Given the description of an element on the screen output the (x, y) to click on. 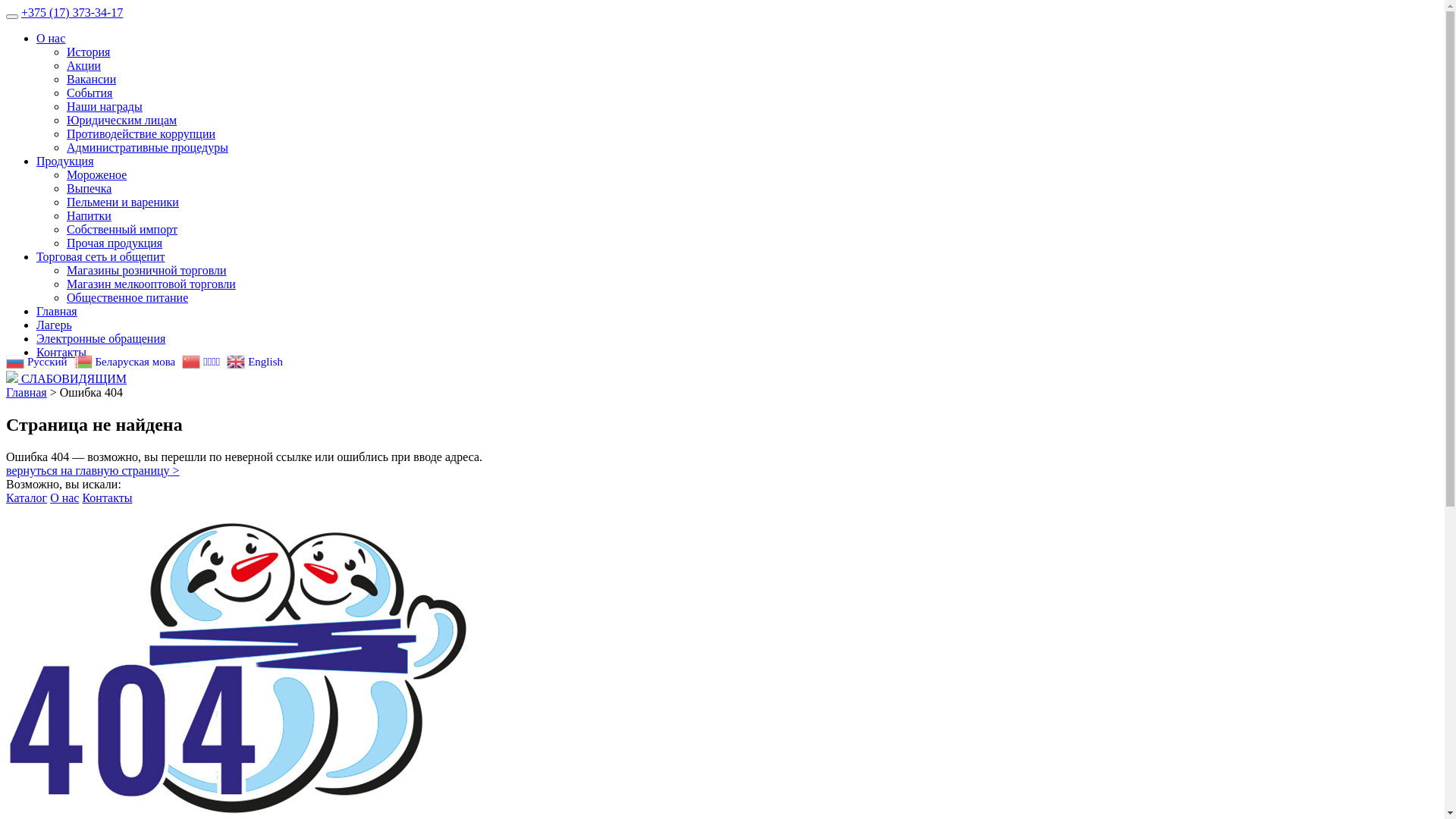
+375 (17) 373-34-17 Element type: text (71, 12)
English Element type: text (256, 360)
